Given the description of an element on the screen output the (x, y) to click on. 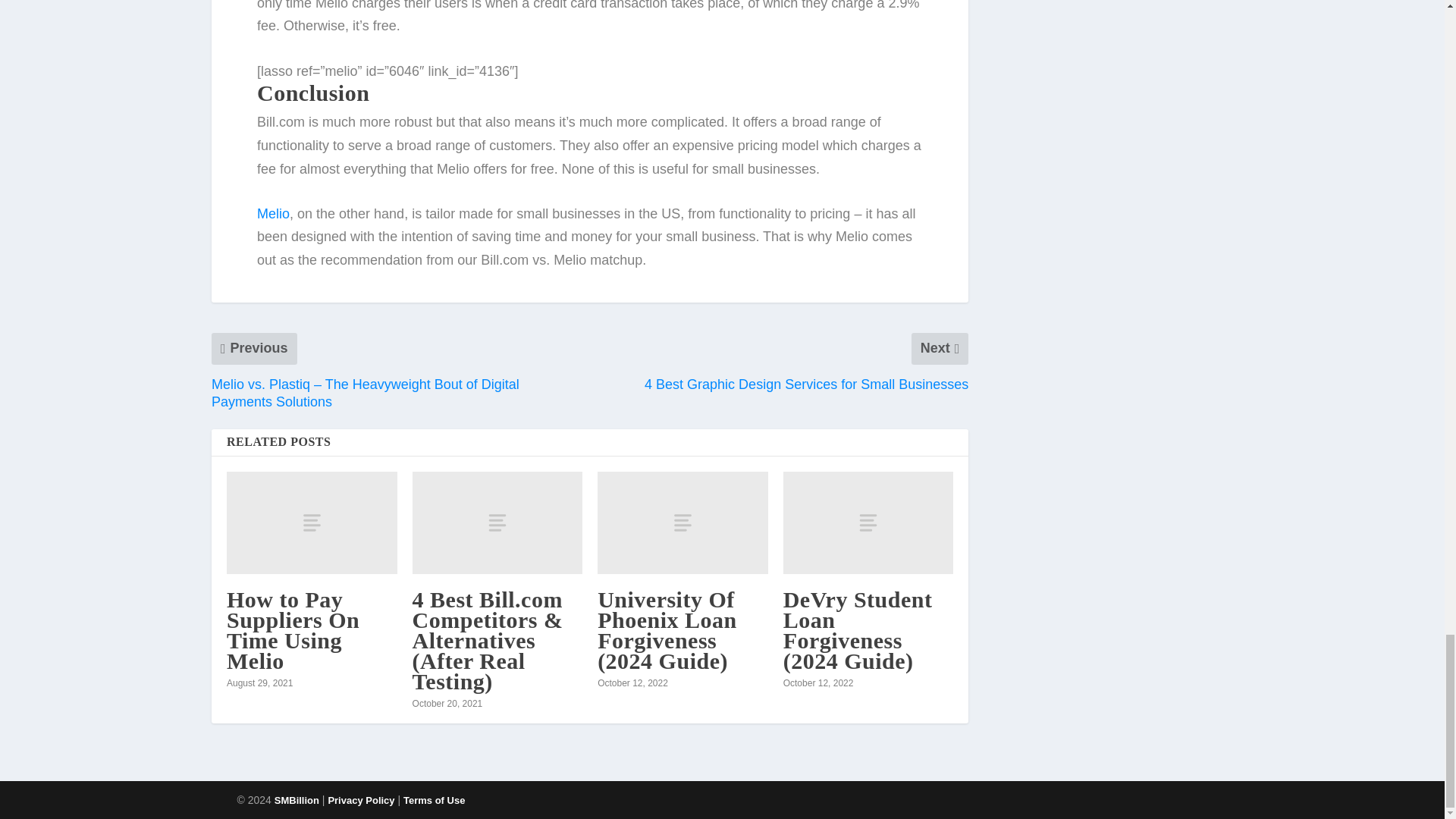
Melio (273, 213)
How to Pay Suppliers On Time Using Melio (312, 522)
How to Pay Suppliers On Time Using Melio (293, 630)
